Given the description of an element on the screen output the (x, y) to click on. 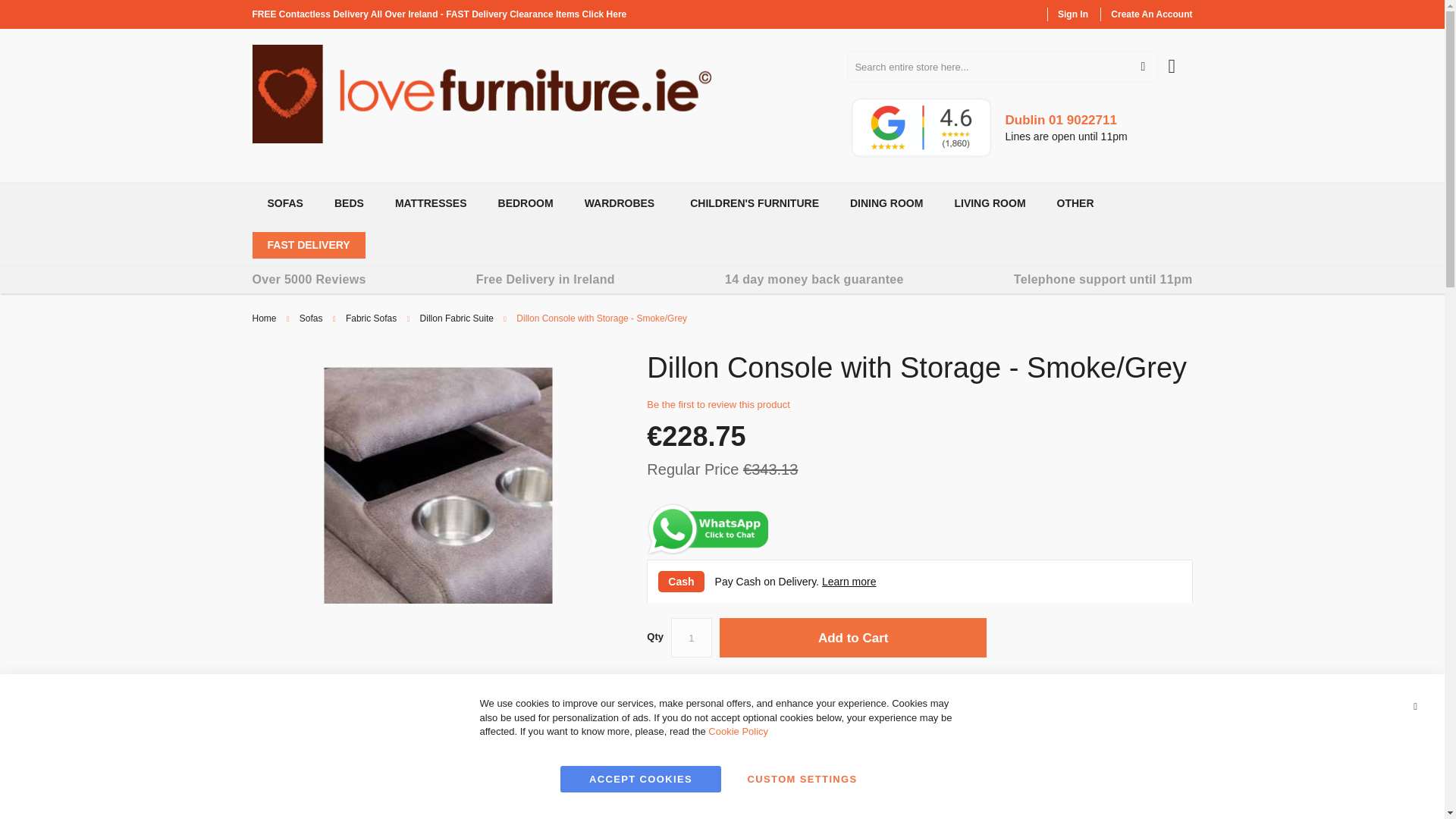
Dillon Fabric Suite (456, 317)
Search (1141, 66)
1 (691, 637)
MY CART (1179, 57)
Create An Account (1151, 14)
Search (1141, 66)
Sofas (311, 317)
BEDS (346, 203)
MATTRESSES (428, 203)
Qty (691, 637)
Fabric Sofas (371, 317)
Go to Home Page (263, 317)
CHILDREN'S FURNITURE (752, 203)
Add to Cart (853, 637)
